Given the description of an element on the screen output the (x, y) to click on. 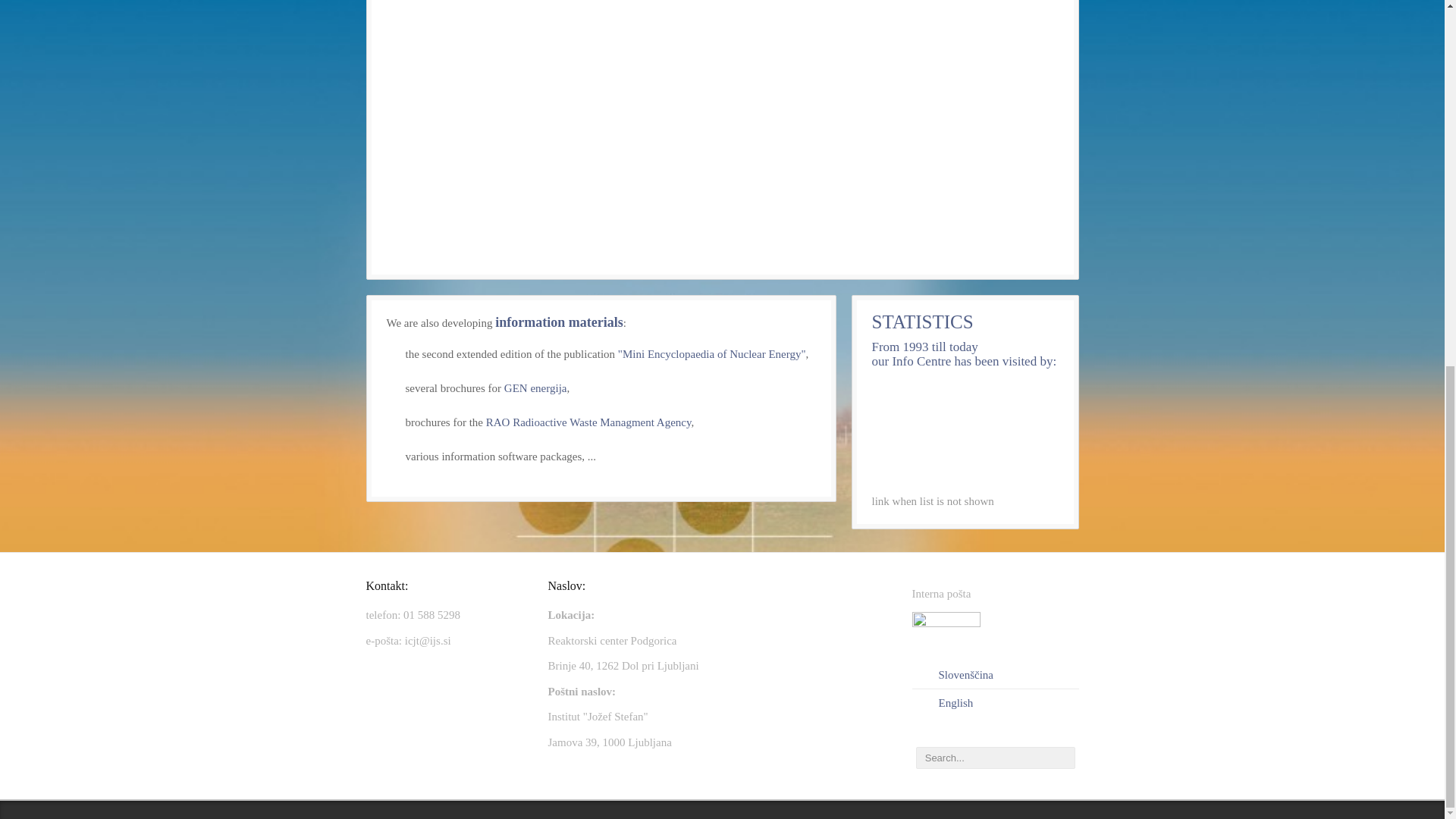
Mini Encyclopaedia of Nuclear Energy (711, 354)
Gen energija (535, 387)
Nuclear Technology Information Centre (920, 360)
English (948, 702)
  Search... (995, 757)
